Given the description of an element on the screen output the (x, y) to click on. 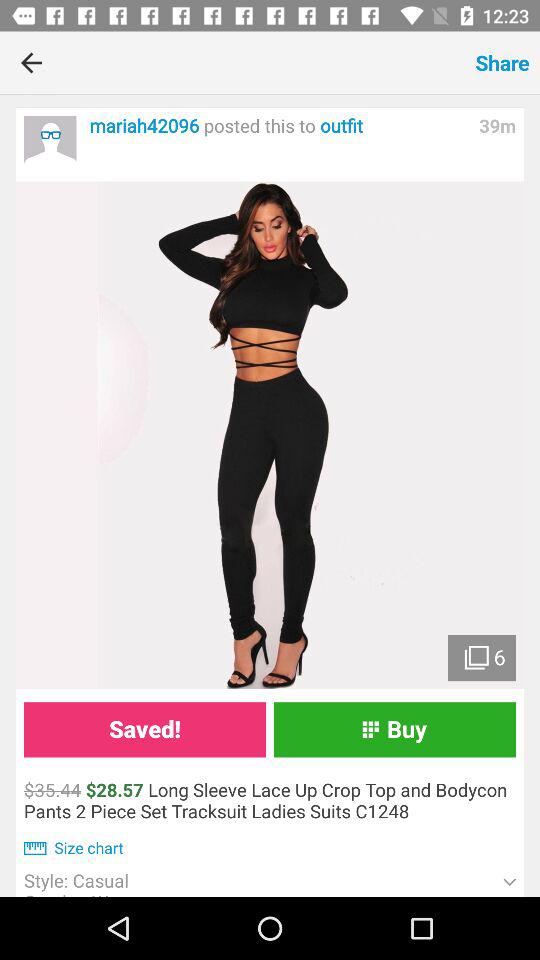
view more pictures (269, 435)
